Given the description of an element on the screen output the (x, y) to click on. 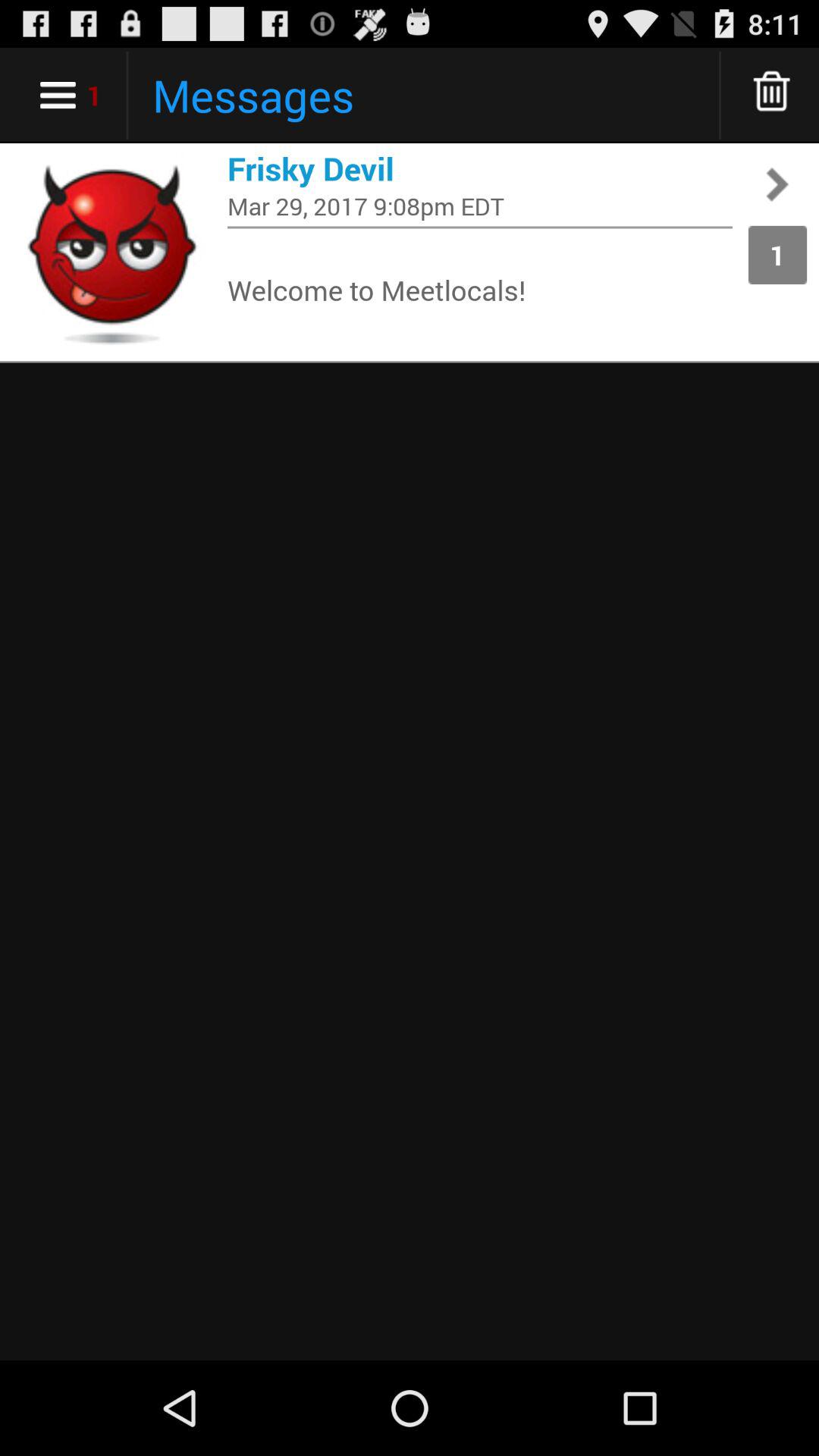
tap icon to the left of 1 icon (479, 227)
